Given the description of an element on the screen output the (x, y) to click on. 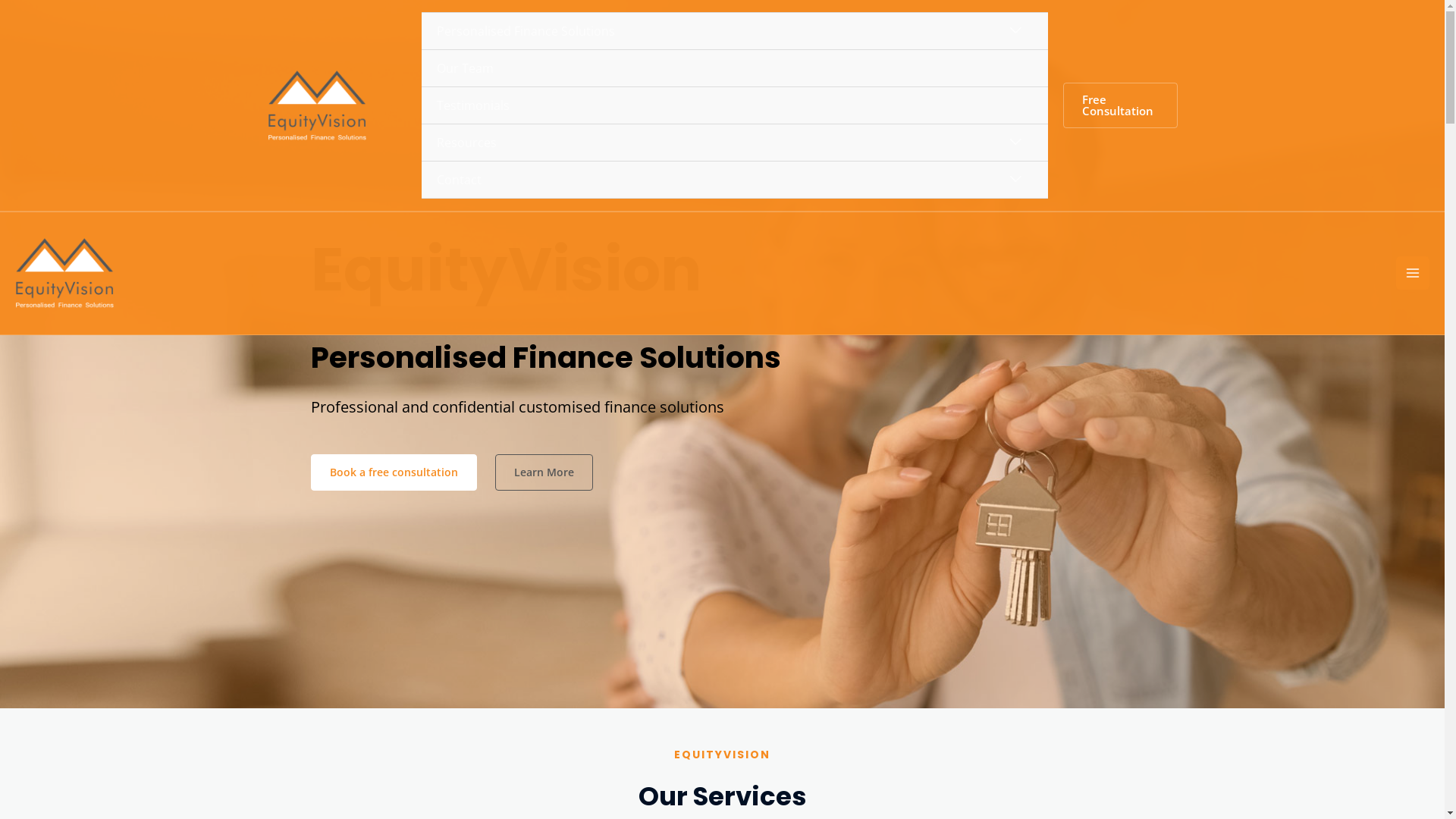
Menu Toggle Element type: text (1015, 30)
Free Consultation Element type: text (1120, 105)
Menu Toggle Element type: text (1015, 141)
Our Team Element type: text (734, 68)
Main Menu Element type: text (1412, 272)
Testimonials Element type: text (734, 105)
Book a free consultation Element type: text (393, 472)
Menu Toggle Element type: text (1015, 178)
Resources Element type: text (734, 142)
Contact Element type: text (734, 179)
Learn More Element type: text (543, 472)
Personalised Finance Solutions Element type: text (734, 31)
